Given the description of an element on the screen output the (x, y) to click on. 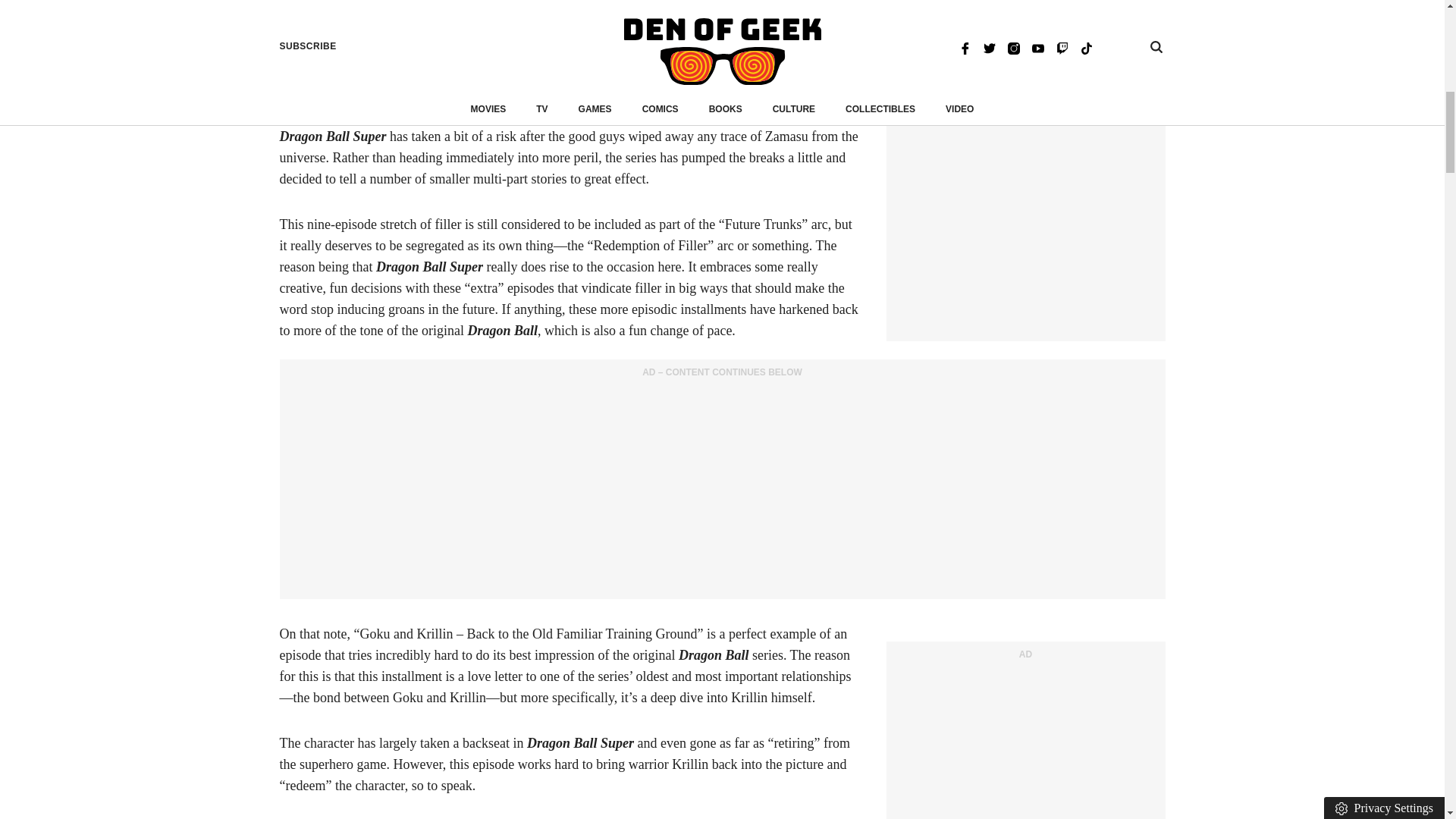
50 (467, 48)
